Given the description of an element on the screen output the (x, y) to click on. 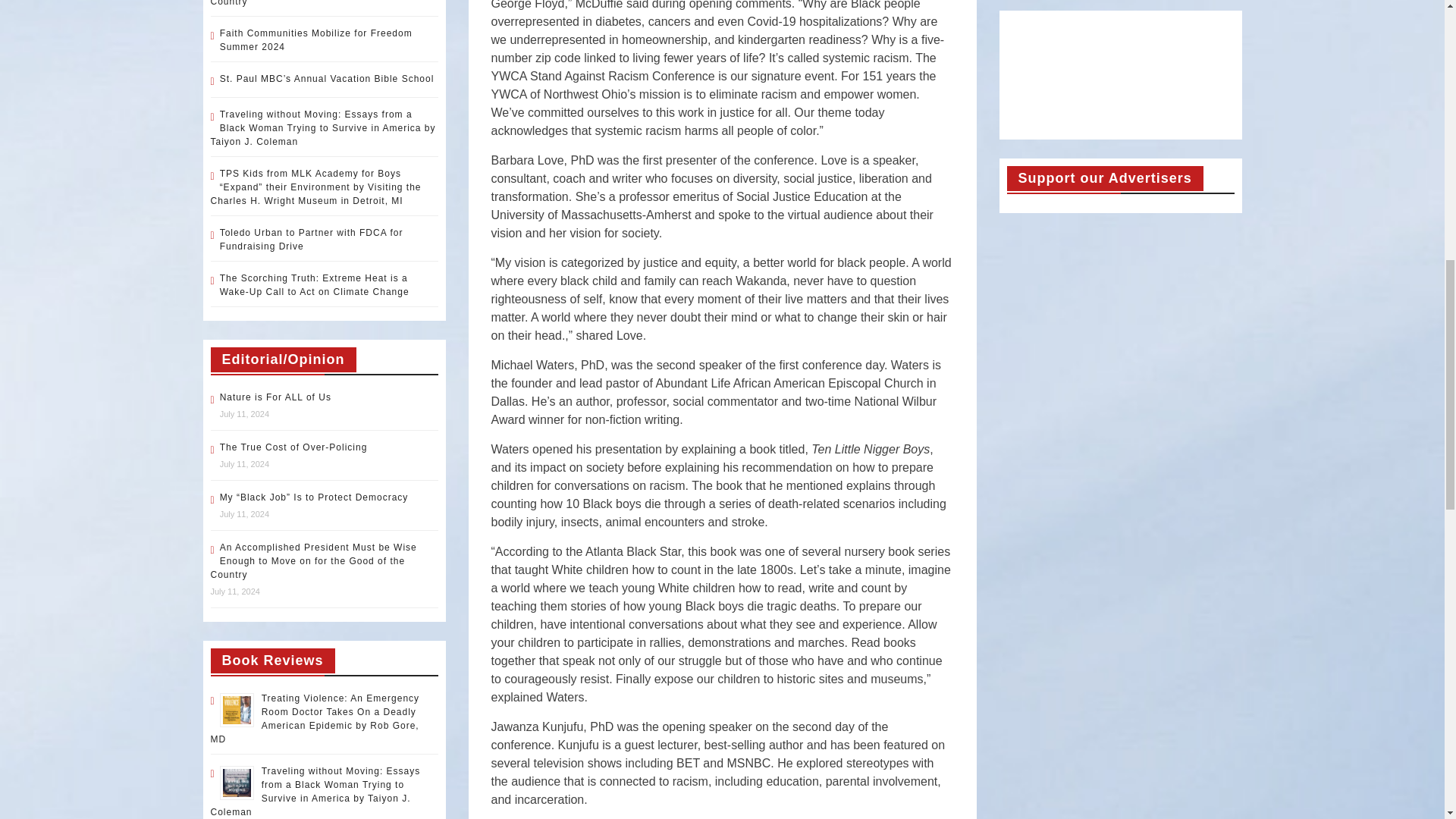
Weather Widget (1120, 74)
